Given the description of an element on the screen output the (x, y) to click on. 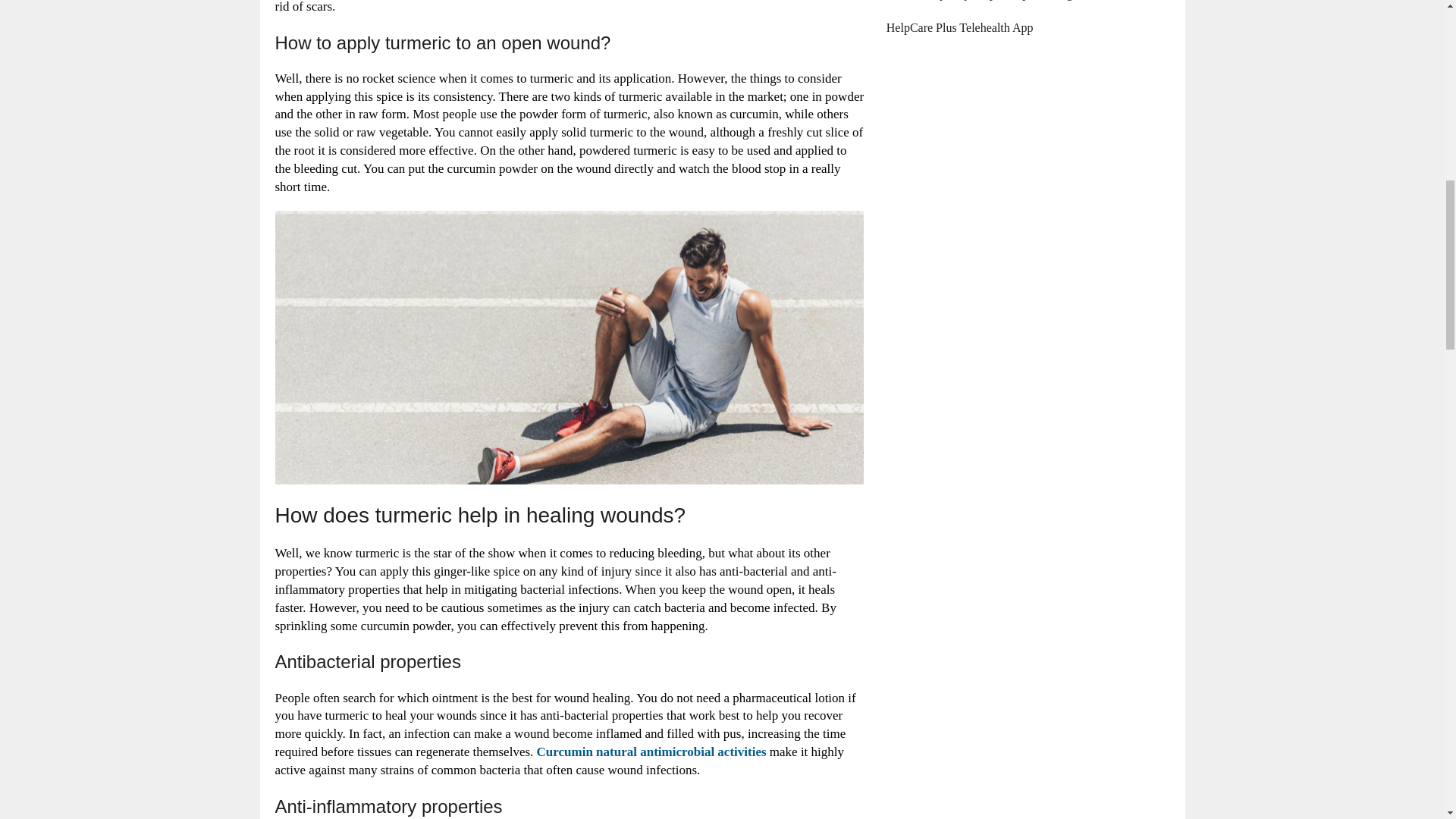
Curcumin natural antimicrobial activities (652, 751)
